Given the description of an element on the screen output the (x, y) to click on. 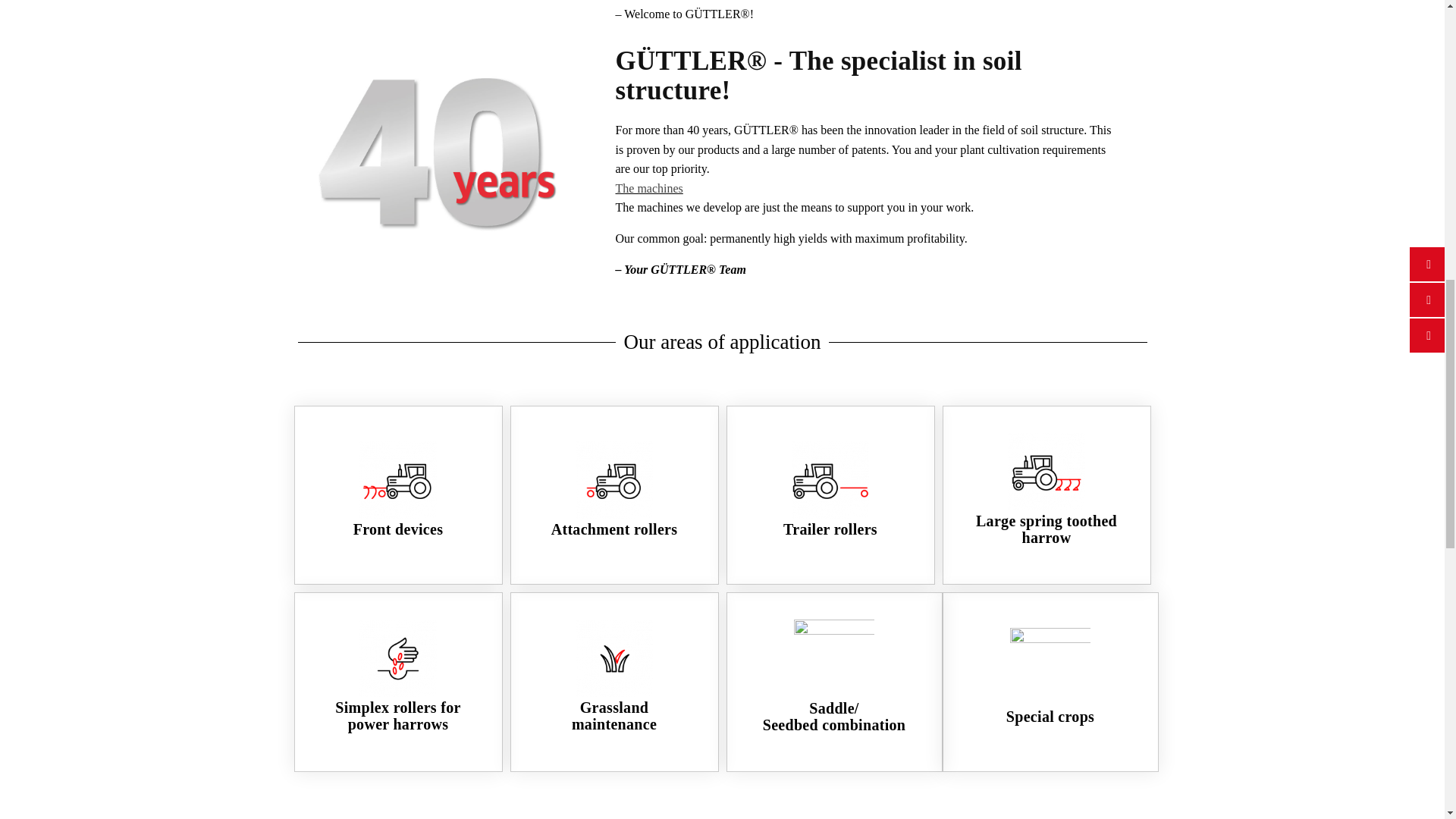
Large spring toothed harrow (1045, 529)
Simplex rollers for power harrows (397, 715)
Trailer rollers (830, 528)
Front devices (398, 528)
Special crops (1050, 716)
Grassland maintenance (614, 715)
The machines (648, 187)
Attachment rollers (614, 528)
